Given the description of an element on the screen output the (x, y) to click on. 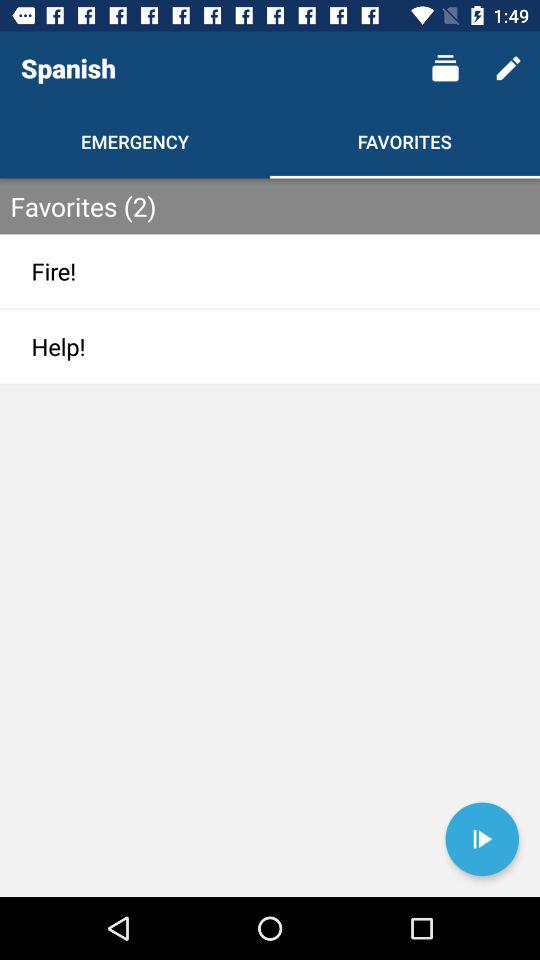
turn on the icon at the bottom right corner (482, 839)
